Given the description of an element on the screen output the (x, y) to click on. 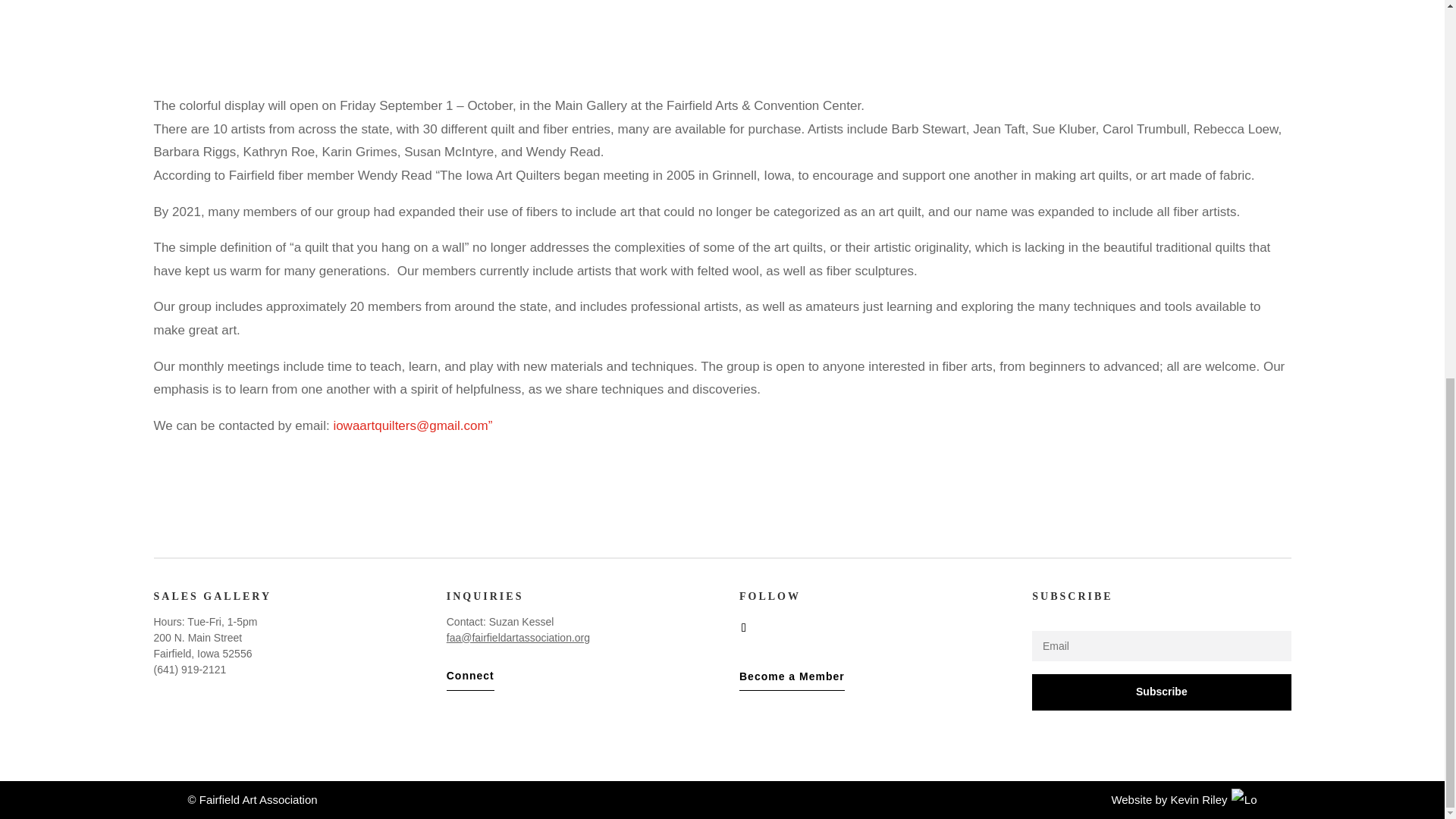
Become a Member (791, 677)
Follow on Facebook (743, 627)
Subscribe (1161, 692)
Connect (470, 676)
